Given the description of an element on the screen output the (x, y) to click on. 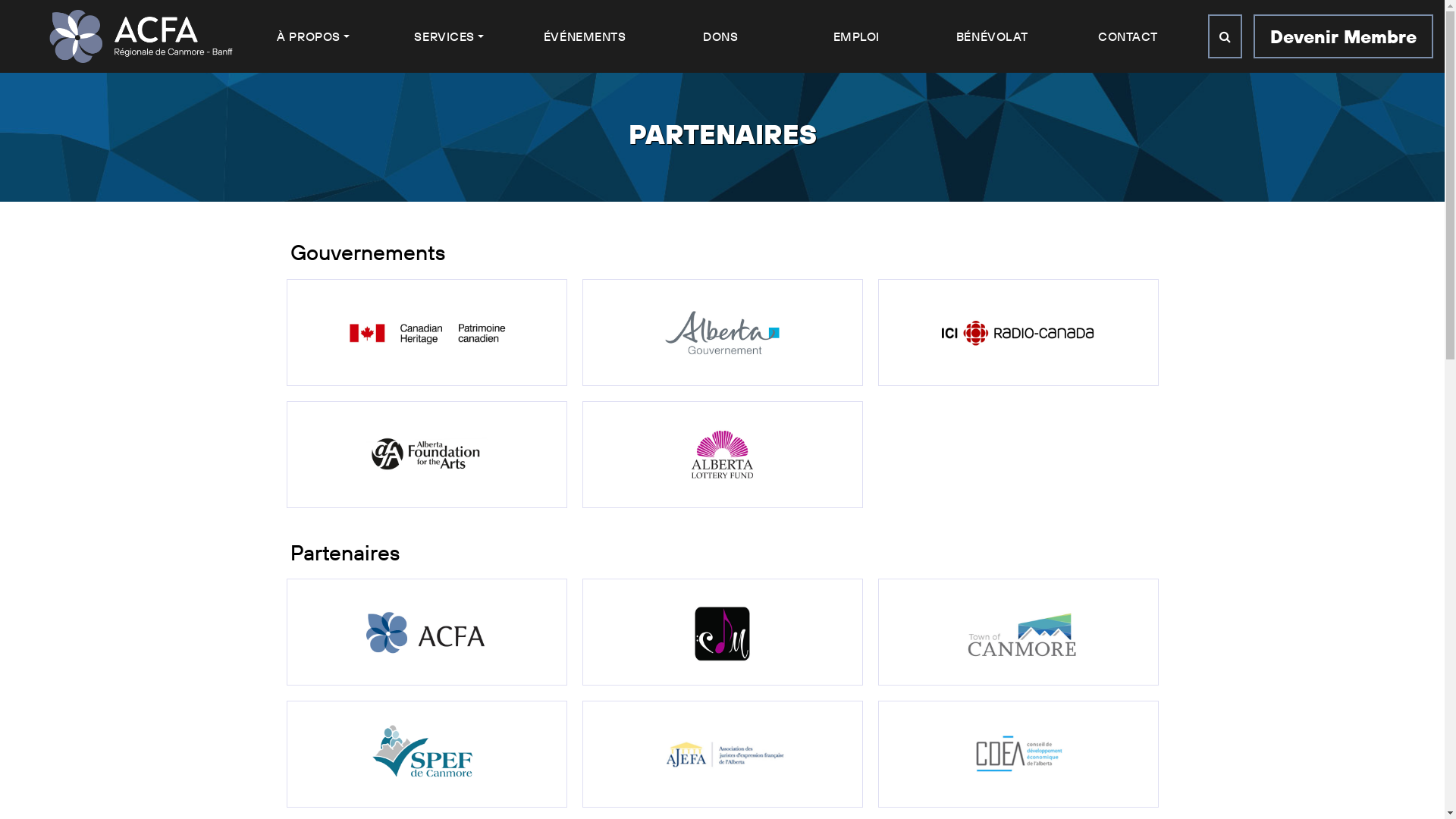
Search Element type: hover (1225, 36)
SERVICES Element type: text (448, 36)
CONTACT Element type: text (1127, 36)
Patrimoine Element type: hover (425, 330)
DONS Element type: text (720, 36)
Radio Canada Element type: hover (1017, 330)
EMPLOI Element type: text (856, 36)
Alberta Lottery fund Element type: hover (721, 452)
Alberta Element type: hover (721, 330)
Devenir Membre Element type: text (1343, 36)
Foundation for the Arts Element type: hover (425, 452)
ACFA Element type: hover (425, 630)
